Given the description of an element on the screen output the (x, y) to click on. 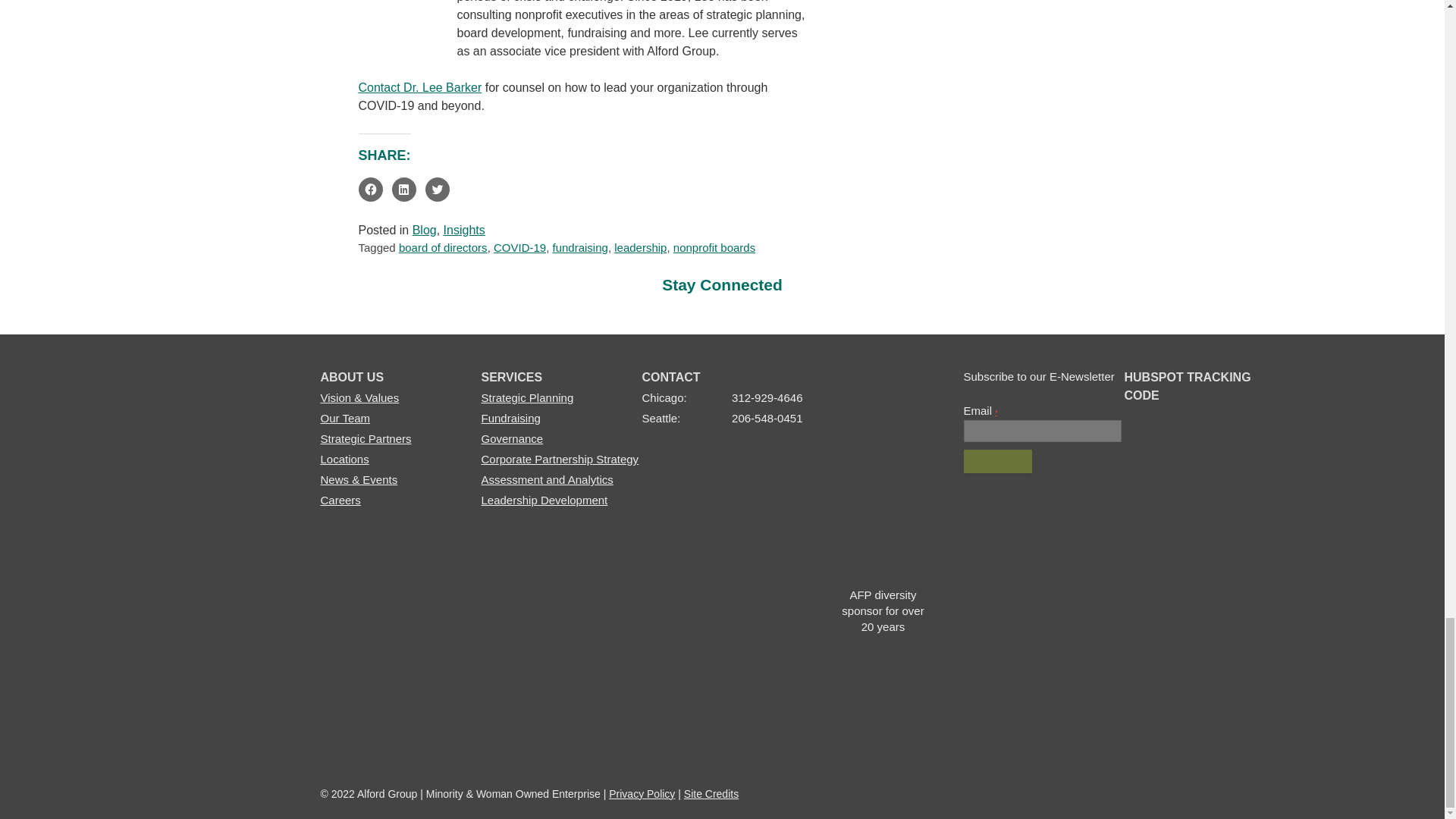
Click to share on Facebook (369, 189)
Sign up (997, 461)
Click to share on Twitter (436, 189)
Click to share on LinkedIn (402, 189)
Contact Dr. Lee Barker (419, 87)
